Given the description of an element on the screen output the (x, y) to click on. 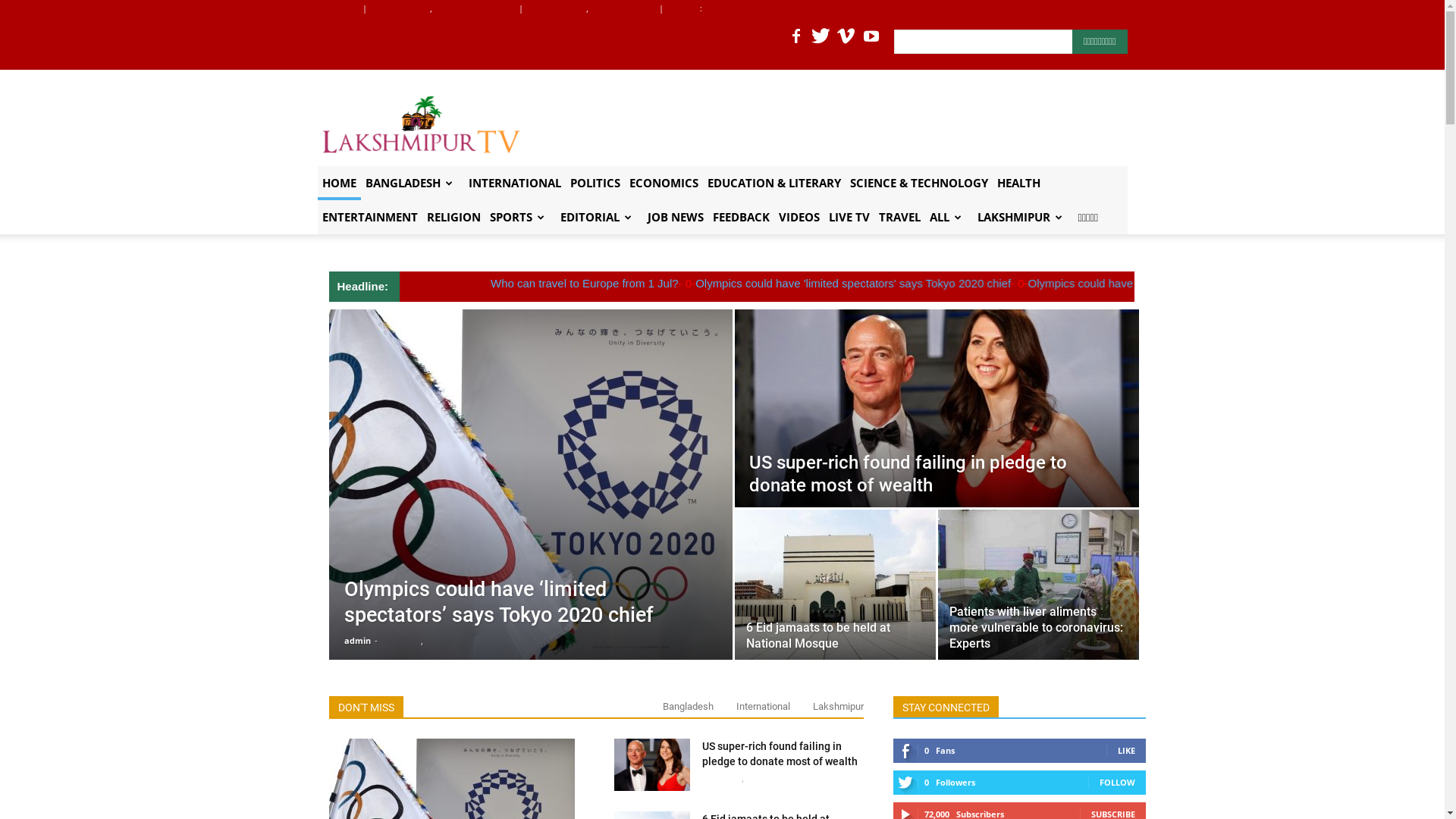
ECONOMICS Element type: text (663, 183)
SPORTS Element type: text (520, 217)
International Element type: text (762, 706)
Lakshmipur Element type: text (837, 706)
BANGLADESH Element type: text (412, 183)
FEEDBACK Element type: text (741, 217)
Vimeo Element type: hover (845, 38)
LIKE Element type: text (1126, 750)
Twitter Element type: hover (820, 38)
Bangladesh Element type: text (687, 706)
EDUCATION & LITERARY Element type: text (773, 183)
ALL Element type: text (948, 217)
HEALTH Element type: text (1017, 183)
EDITORIAL Element type: text (598, 217)
LIVE TV Element type: text (848, 217)
6 Eid jamaats to be held at National Mosque Element type: text (818, 635)
HOME Element type: text (338, 183)
SCIENCE & TECHNOLOGY Element type: text (917, 183)
admin Element type: text (357, 640)
RELIGION Element type: text (452, 217)
VIDEOS Element type: text (798, 217)
Facebook Element type: hover (795, 38)
ENTERTAINMENT Element type: text (368, 217)
FOLLOW Element type: text (1117, 781)
JOB NEWS Element type: text (675, 217)
6 Eid jamaats to be held at National Mosque Element type: hover (834, 584)
Youtube Element type: hover (870, 38)
LAKSHMIPUR Element type: text (1022, 217)
POLITICS Element type: text (594, 183)
INTERNATIONAL Element type: text (514, 183)
Who can travel to Europe from 1 Jul? Element type: text (882, 282)
TRAVEL Element type: text (898, 217)
